Given the description of an element on the screen output the (x, y) to click on. 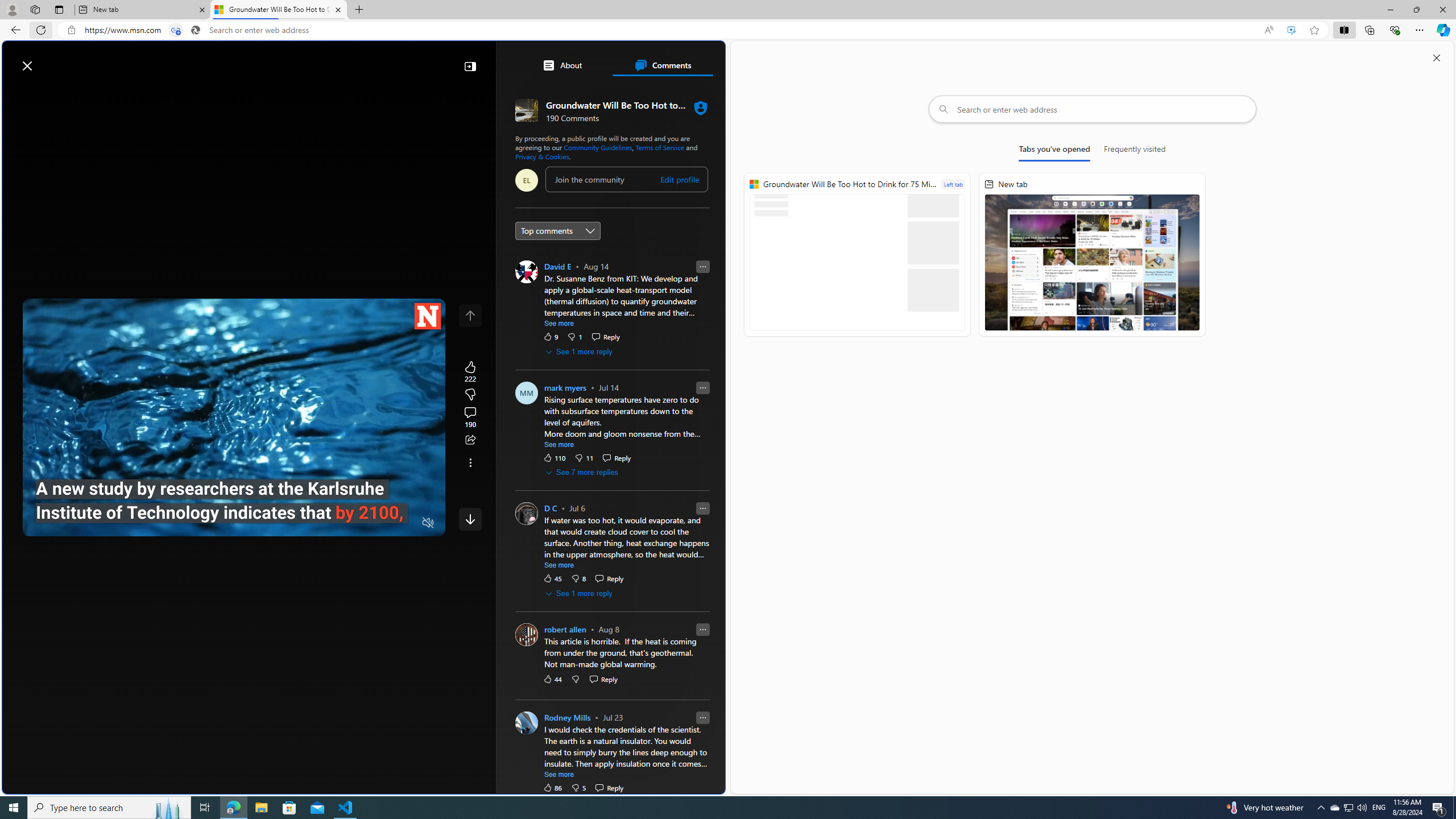
Collapse (469, 65)
9 Like (550, 336)
Report comment (702, 716)
Tabs in split screen (175, 29)
Frequently visited (1134, 151)
Share this story (469, 440)
Community Guidelines (597, 146)
